Given the description of an element on the screen output the (x, y) to click on. 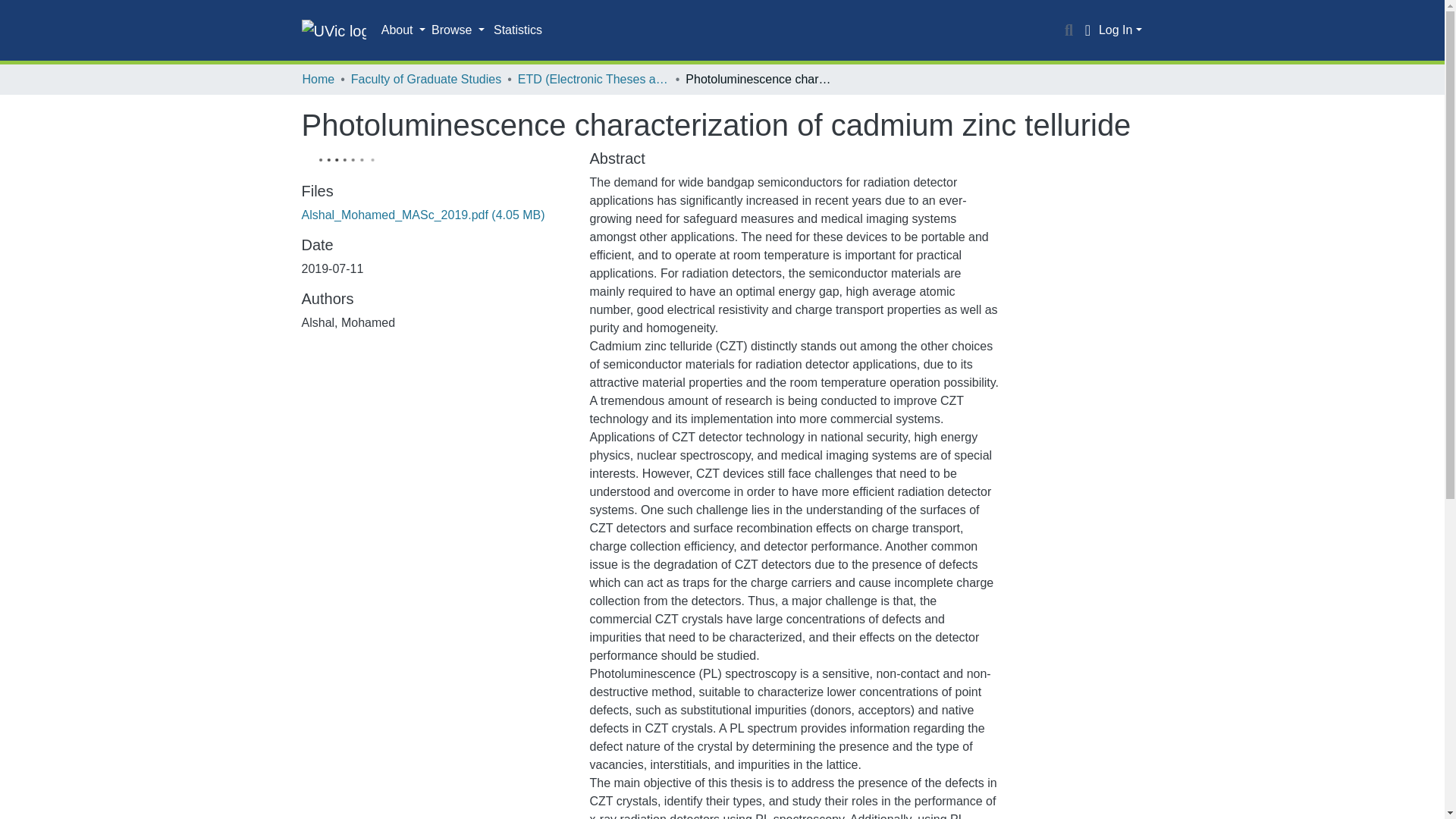
Faculty of Graduate Studies (425, 79)
Search (1068, 30)
About (403, 30)
Browse (457, 30)
Log In (1119, 29)
Statistics (517, 30)
Statistics (517, 30)
Language switch (1087, 30)
Home (317, 79)
